Given the description of an element on the screen output the (x, y) to click on. 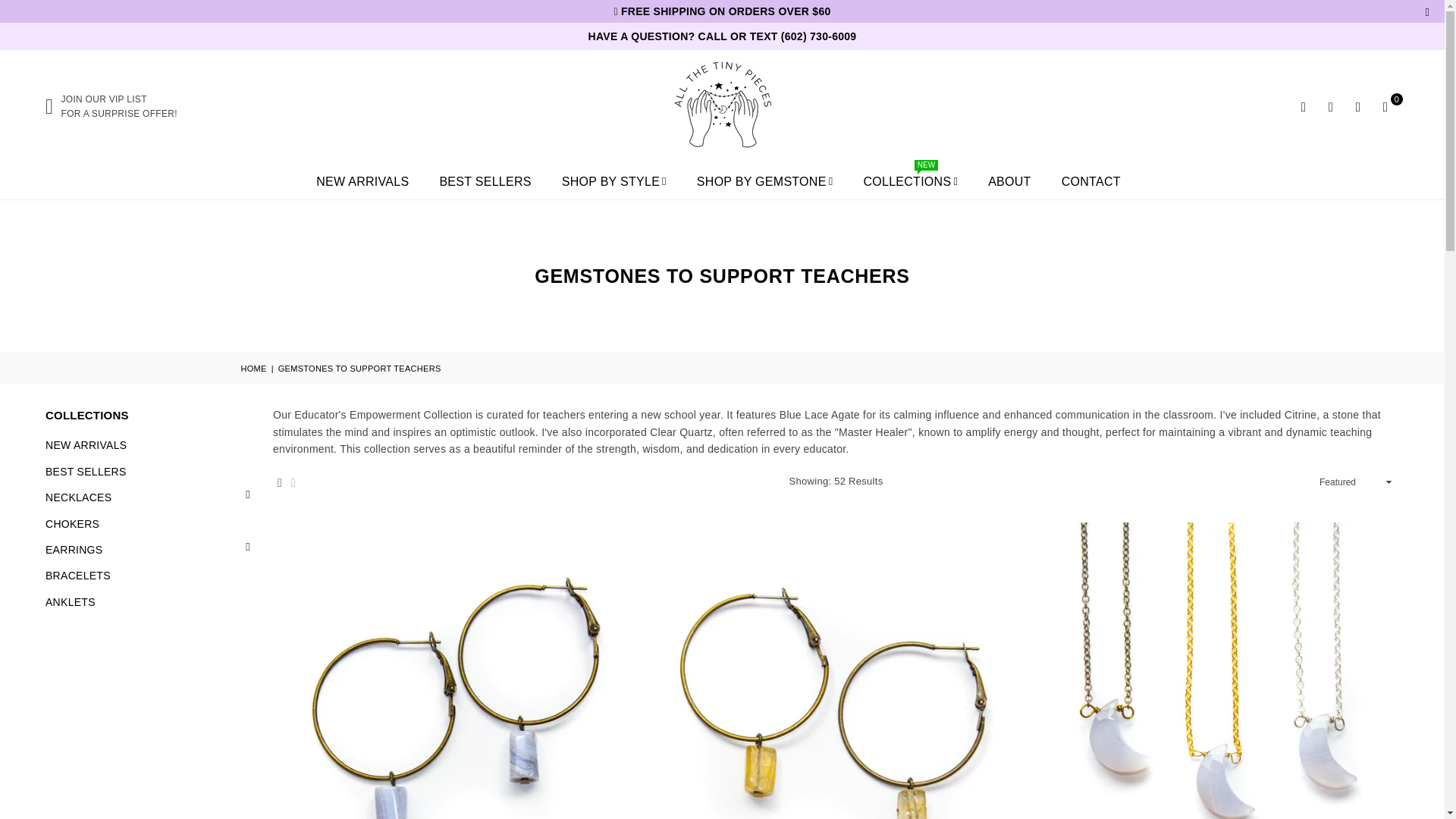
Cart (1385, 106)
Settings (1330, 106)
Wishlist (1357, 106)
0 (1385, 106)
SHOP BY GEMSTONE (349, 106)
Blue Lace Agate Necklace - Moon (764, 181)
Search (1214, 670)
Tiny Citrine Hoop Earrings (1303, 106)
Back to the home page (835, 670)
